Given the description of an element on the screen output the (x, y) to click on. 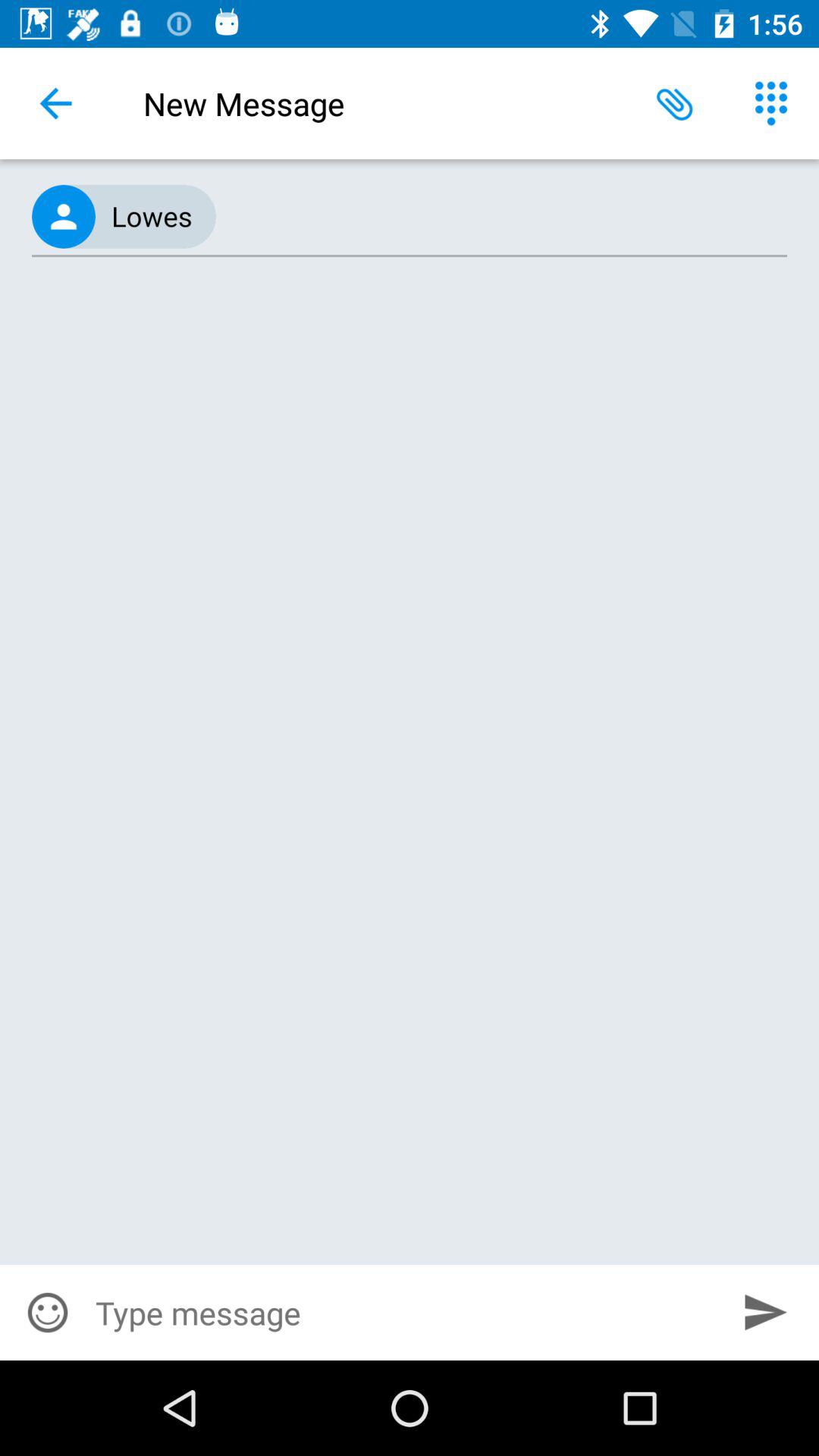
open the item above (415) 486-8611,  item (771, 103)
